Given the description of an element on the screen output the (x, y) to click on. 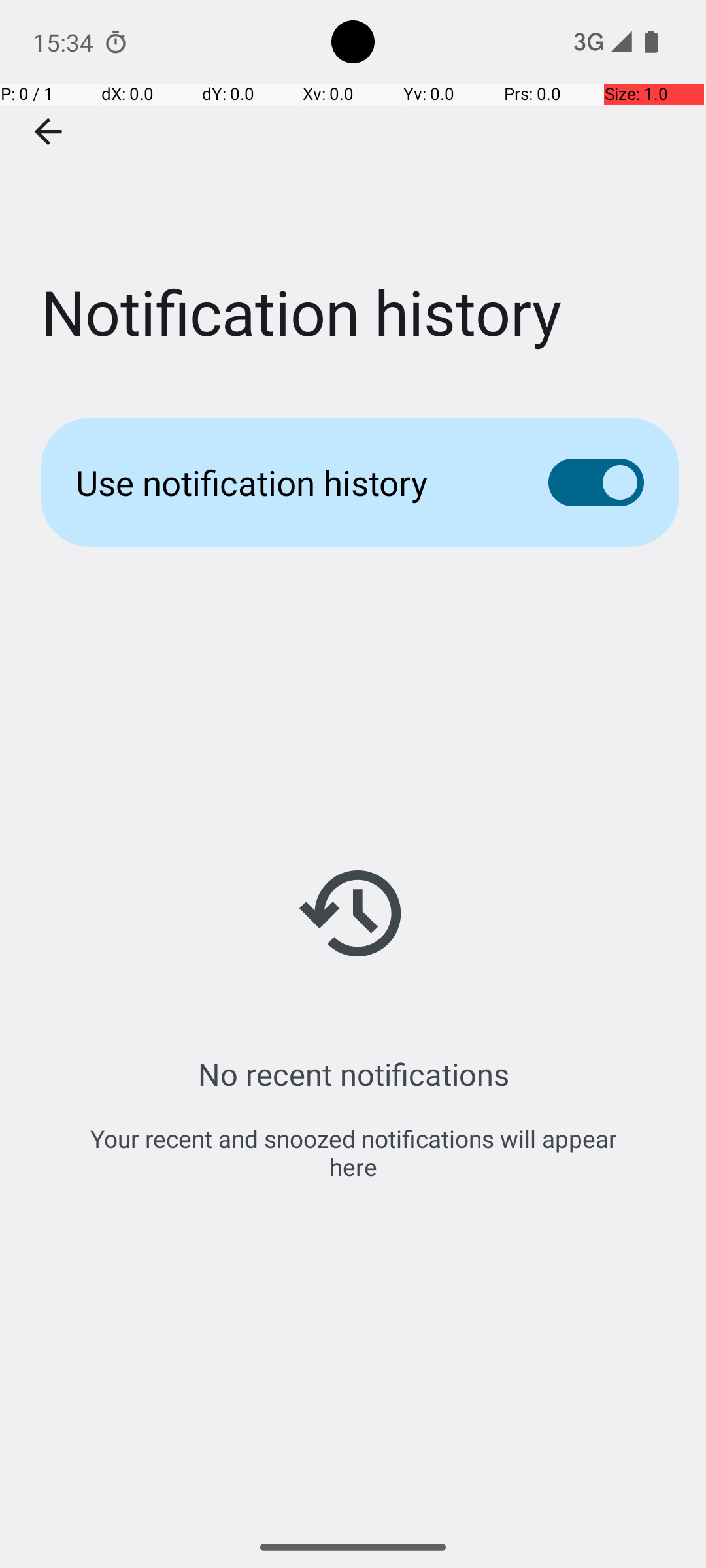
No recent notifications Element type: android.widget.TextView (352, 1073)
Your recent and snoozed notifications will appear here Element type: android.widget.TextView (352, 1152)
